Given the description of an element on the screen output the (x, y) to click on. 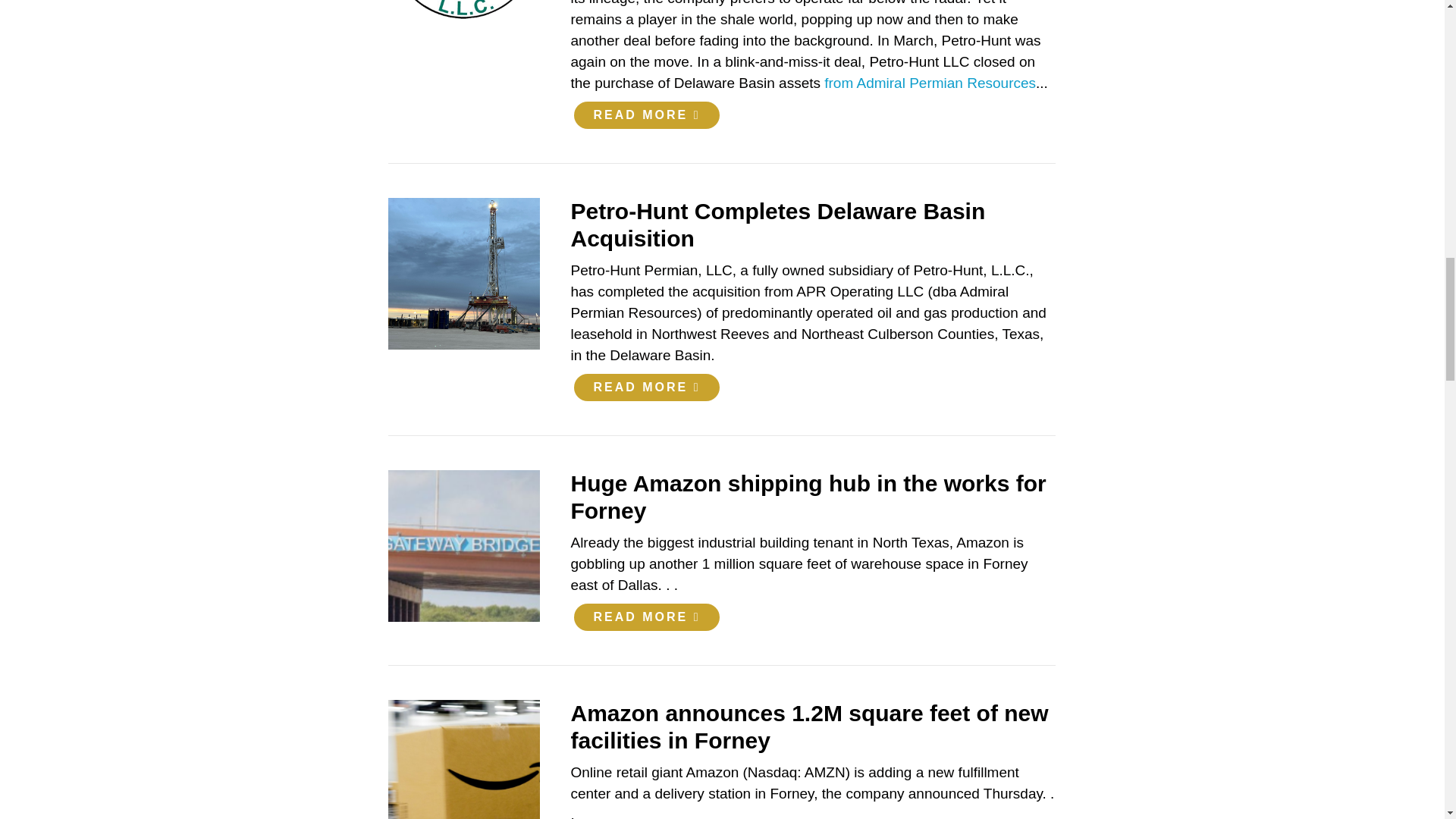
READ MORE (646, 616)
READ MORE (646, 114)
READ MORE (646, 385)
from Admiral Permian Resources (929, 82)
